Given the description of an element on the screen output the (x, y) to click on. 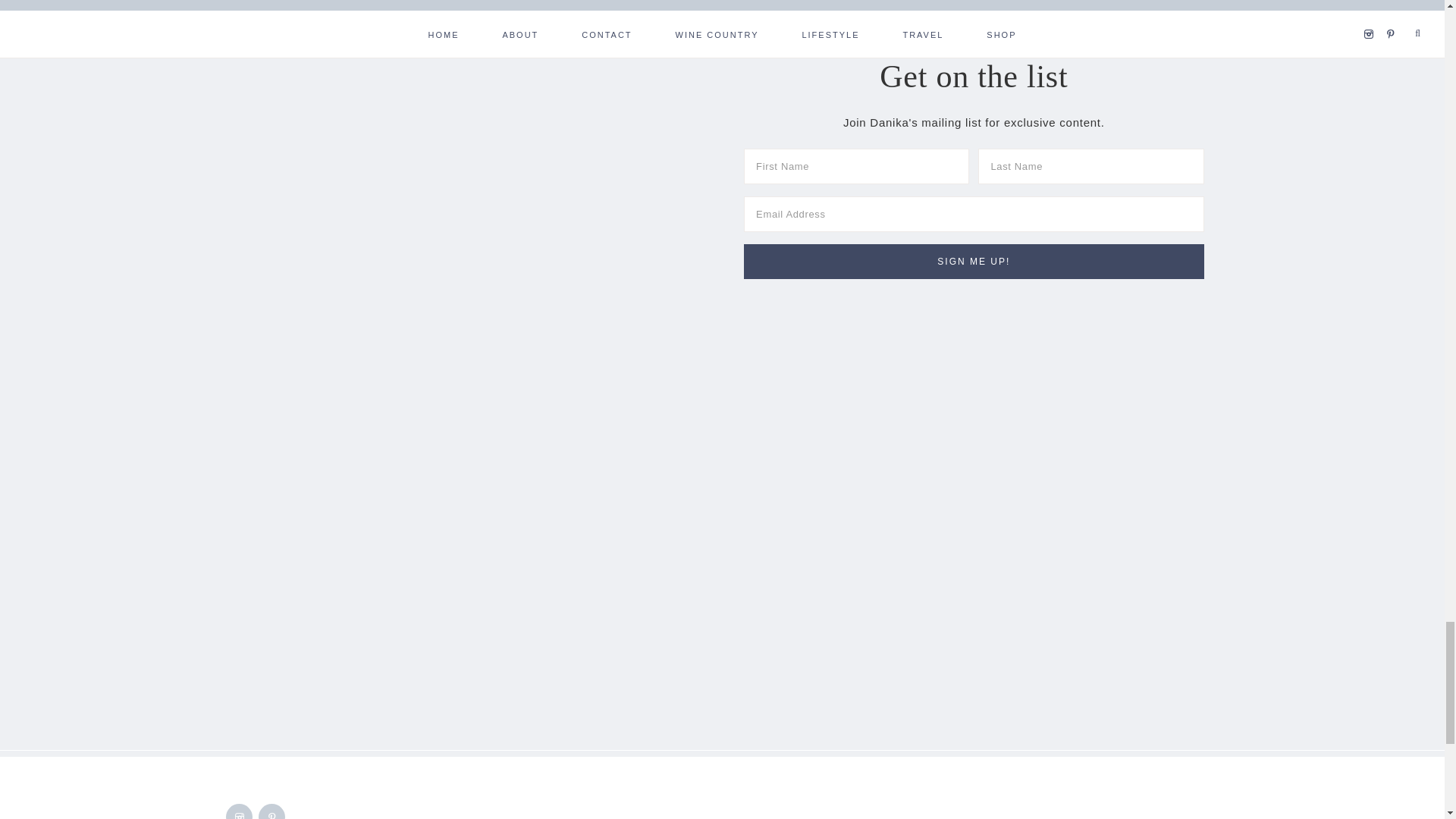
Sign Me Up! (974, 261)
Pinterest (272, 814)
Instagram (239, 814)
